Given the description of an element on the screen output the (x, y) to click on. 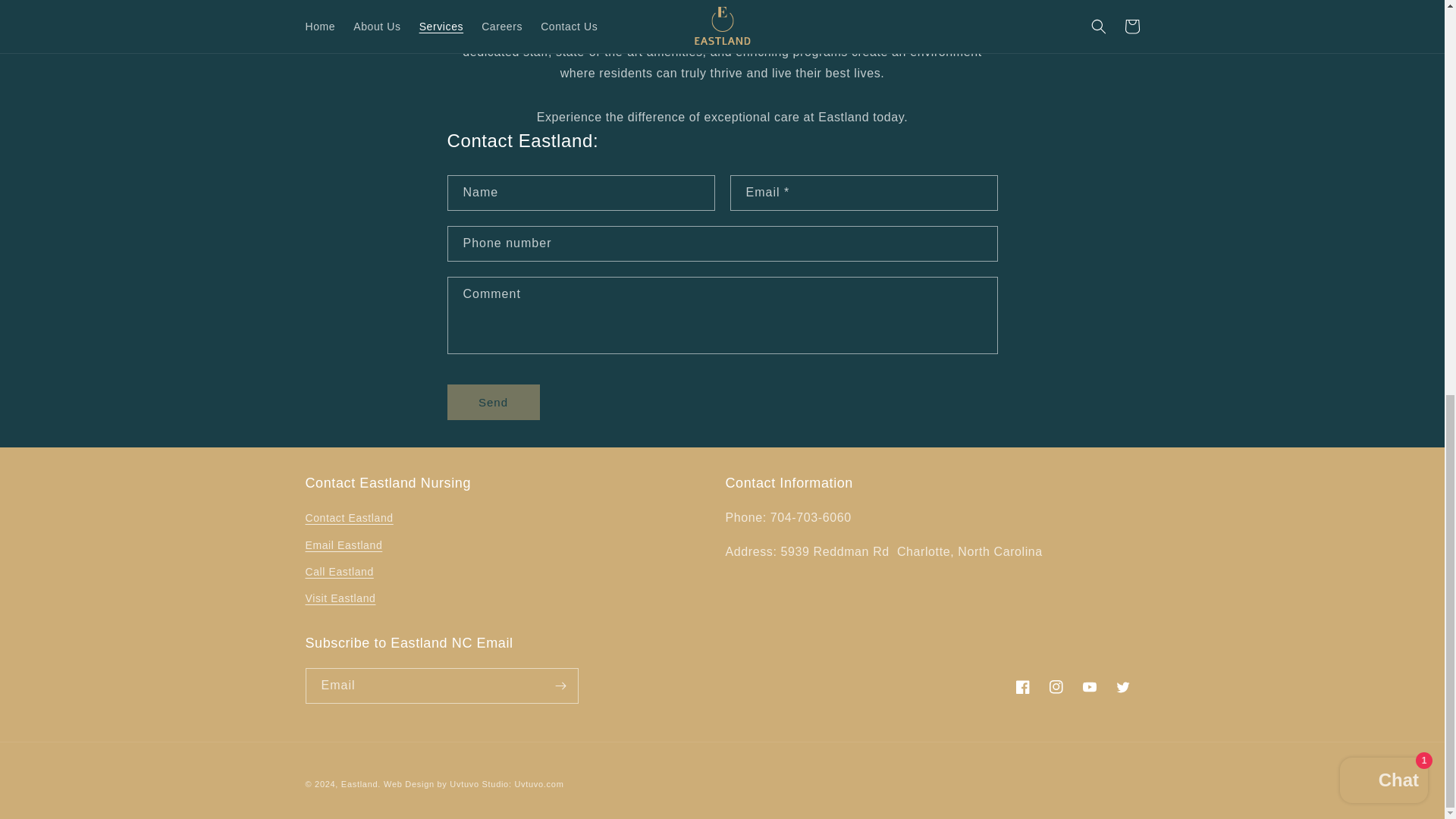
Send (493, 402)
Instagram (1055, 686)
YouTube (1088, 686)
Contact Eastland (348, 519)
Visit Eastland (339, 598)
Email Eastland (342, 545)
Facebook (1022, 686)
Call Eastland (338, 571)
Shopify online store chat (1383, 22)
Eastland. (360, 783)
Twitter (1121, 686)
